Given the description of an element on the screen output the (x, y) to click on. 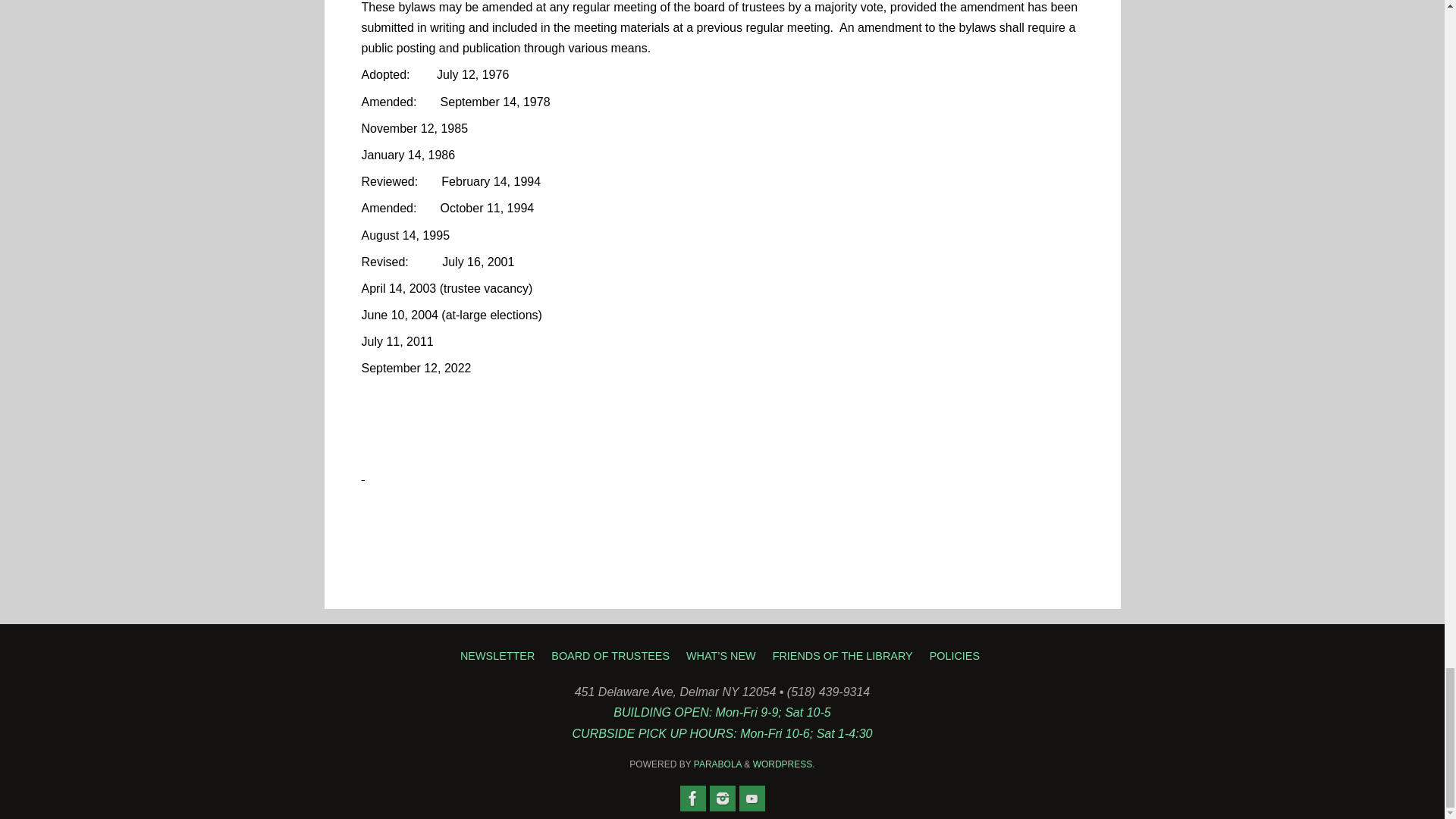
YouTube (751, 798)
PARABOLA (717, 764)
NEWSLETTER (500, 653)
Facebook (691, 798)
POLICIES (957, 653)
Semantic Personal Publishing Platform (783, 764)
Parabola Theme by Cryout Creations (717, 764)
FRIENDS OF THE LIBRARY (845, 653)
WORDPRESS. (783, 764)
